Given the description of an element on the screen output the (x, y) to click on. 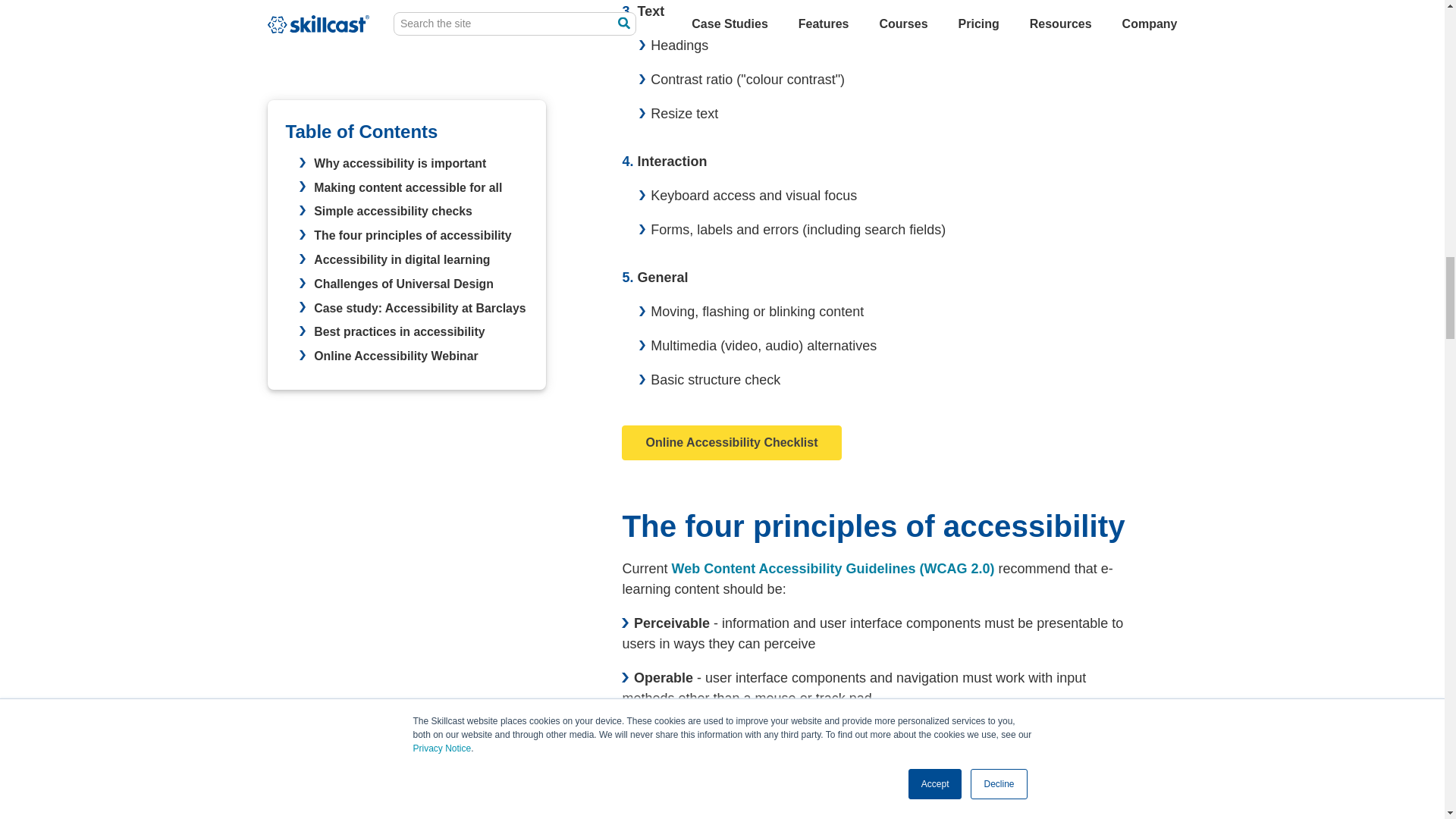
Online Accessibility Checklist (731, 442)
